Given the description of an element on the screen output the (x, y) to click on. 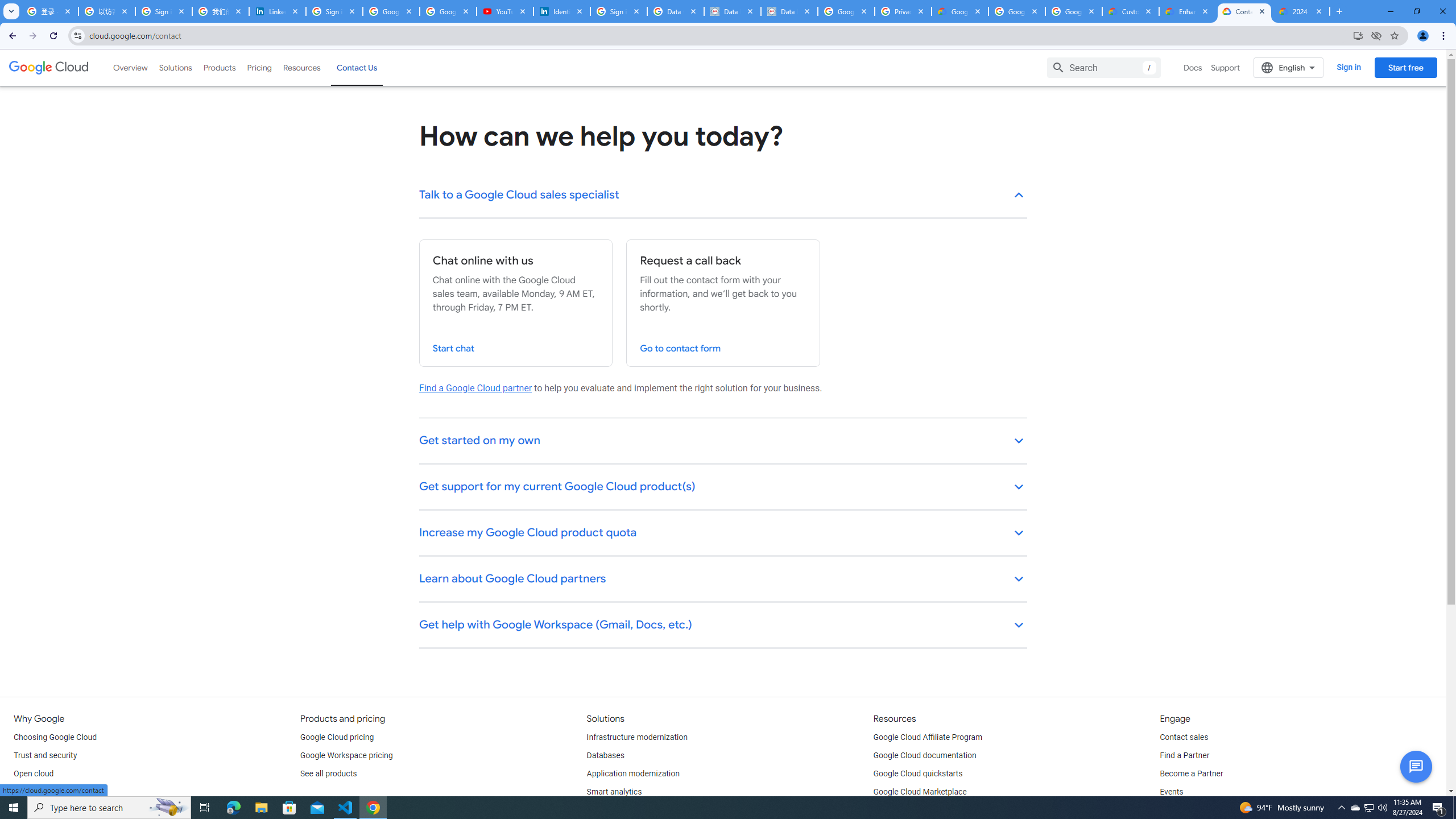
Choosing Google Cloud (55, 737)
Customer Care | Google Cloud (1130, 11)
Google Cloud Affiliate Program (927, 737)
Enhanced Support | Google Cloud (1187, 11)
Resources (301, 67)
Application modernization (632, 773)
Button to activate chat (1416, 766)
Google Cloud Marketplace (919, 791)
